Given the description of an element on the screen output the (x, y) to click on. 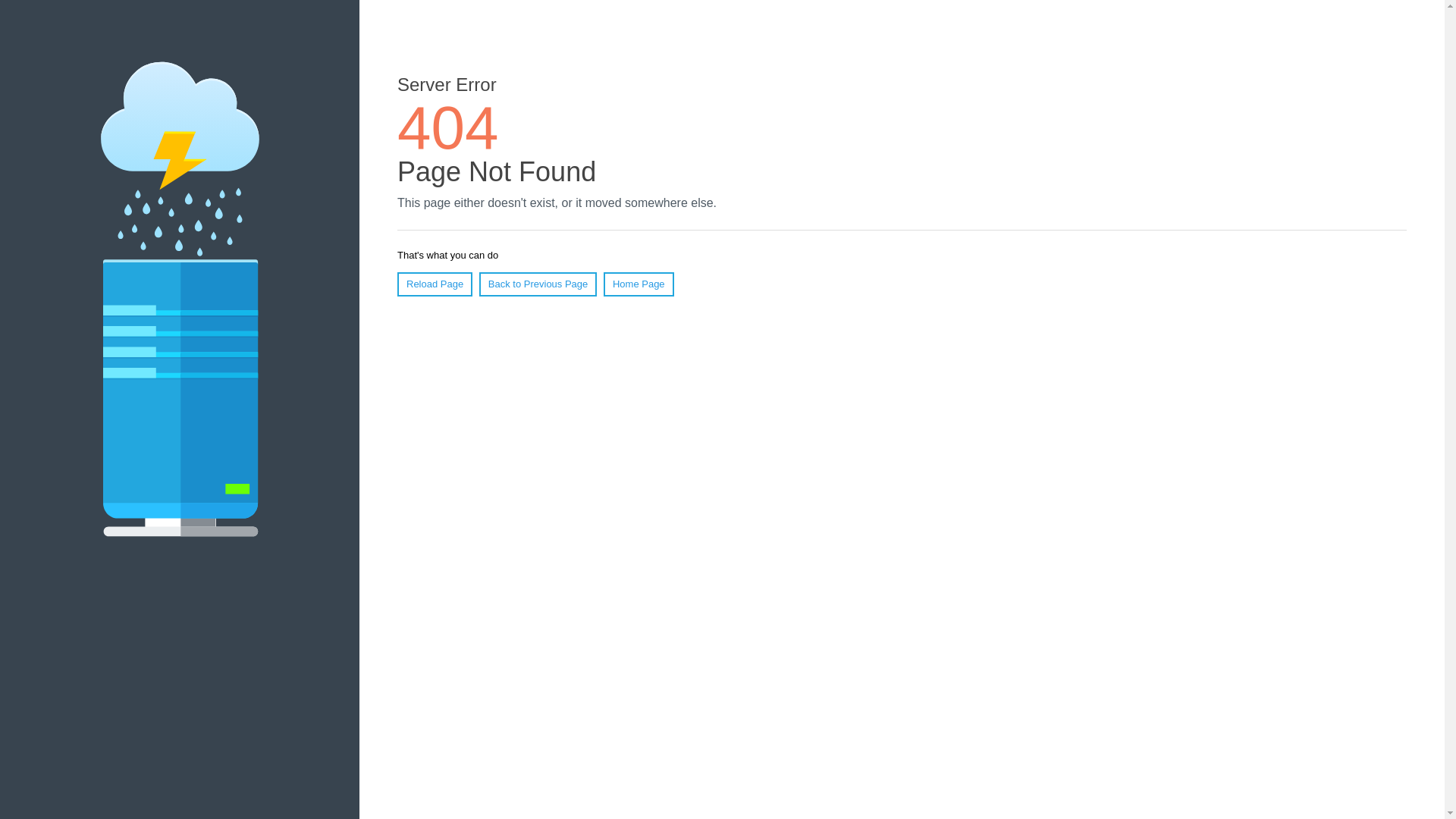
Home Page Element type: text (638, 284)
Reload Page Element type: text (434, 284)
Back to Previous Page Element type: text (538, 284)
